Given the description of an element on the screen output the (x, y) to click on. 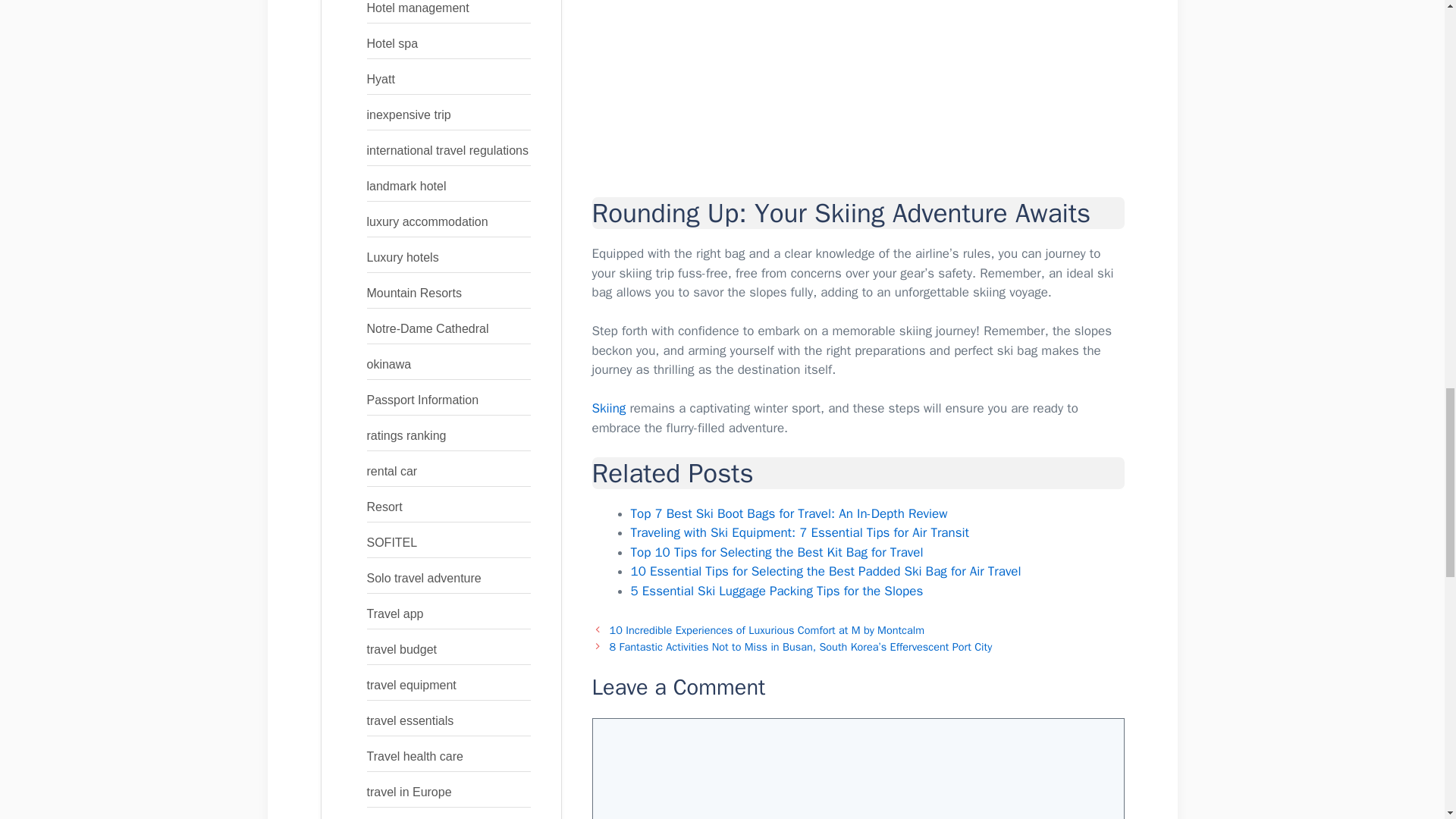
5 Essential Ski Luggage Packing Tips for the Slopes (776, 590)
Top 10 Tips for Selecting the Best Kit Bag for Travel (776, 552)
Top 7 Best Ski Boot Bags for Travel: An In-Depth Review (788, 513)
Skiing (608, 408)
